Given the description of an element on the screen output the (x, y) to click on. 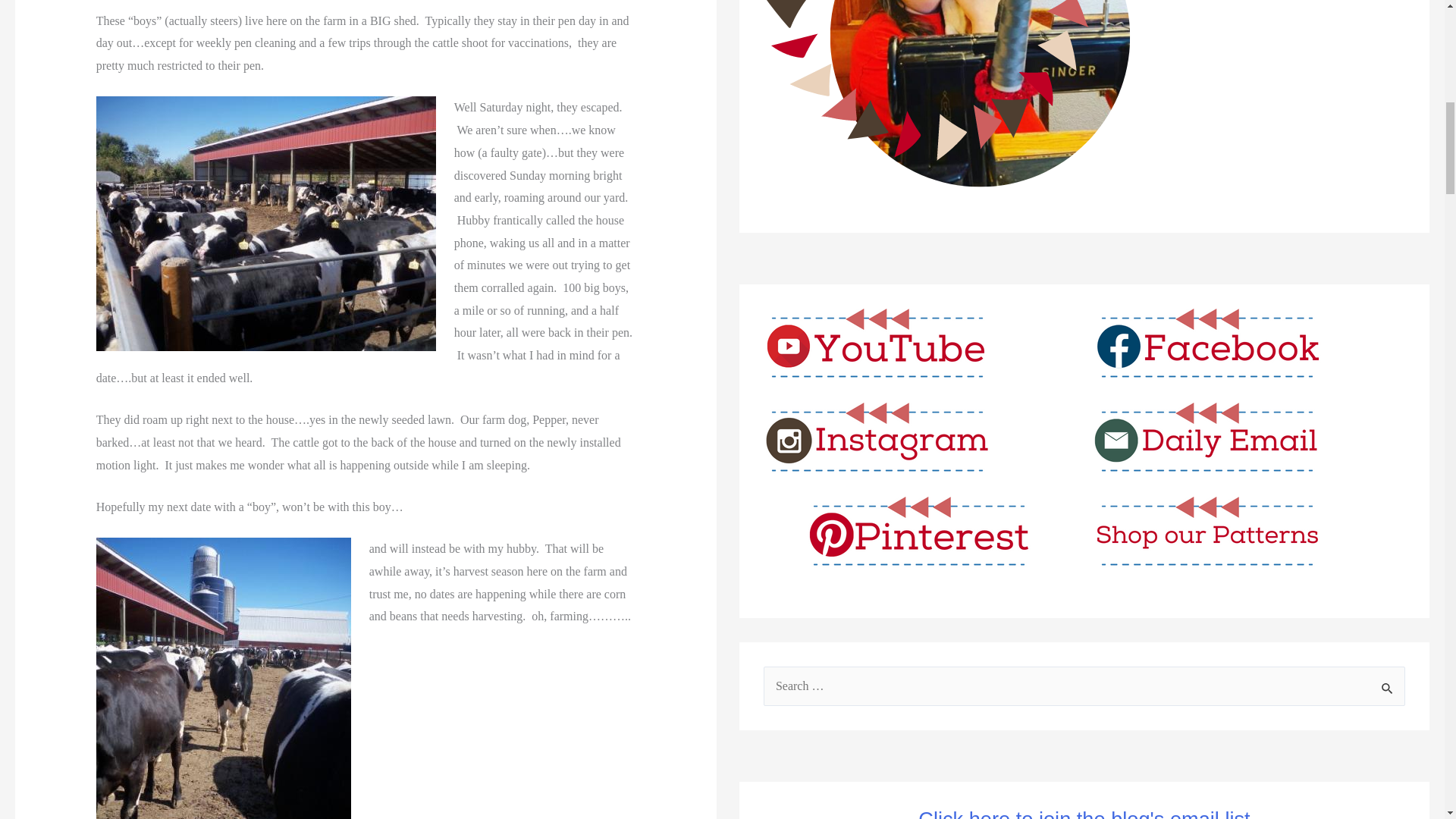
Cattle-2 (223, 678)
Cattle-1 (265, 223)
